Given the description of an element on the screen output the (x, y) to click on. 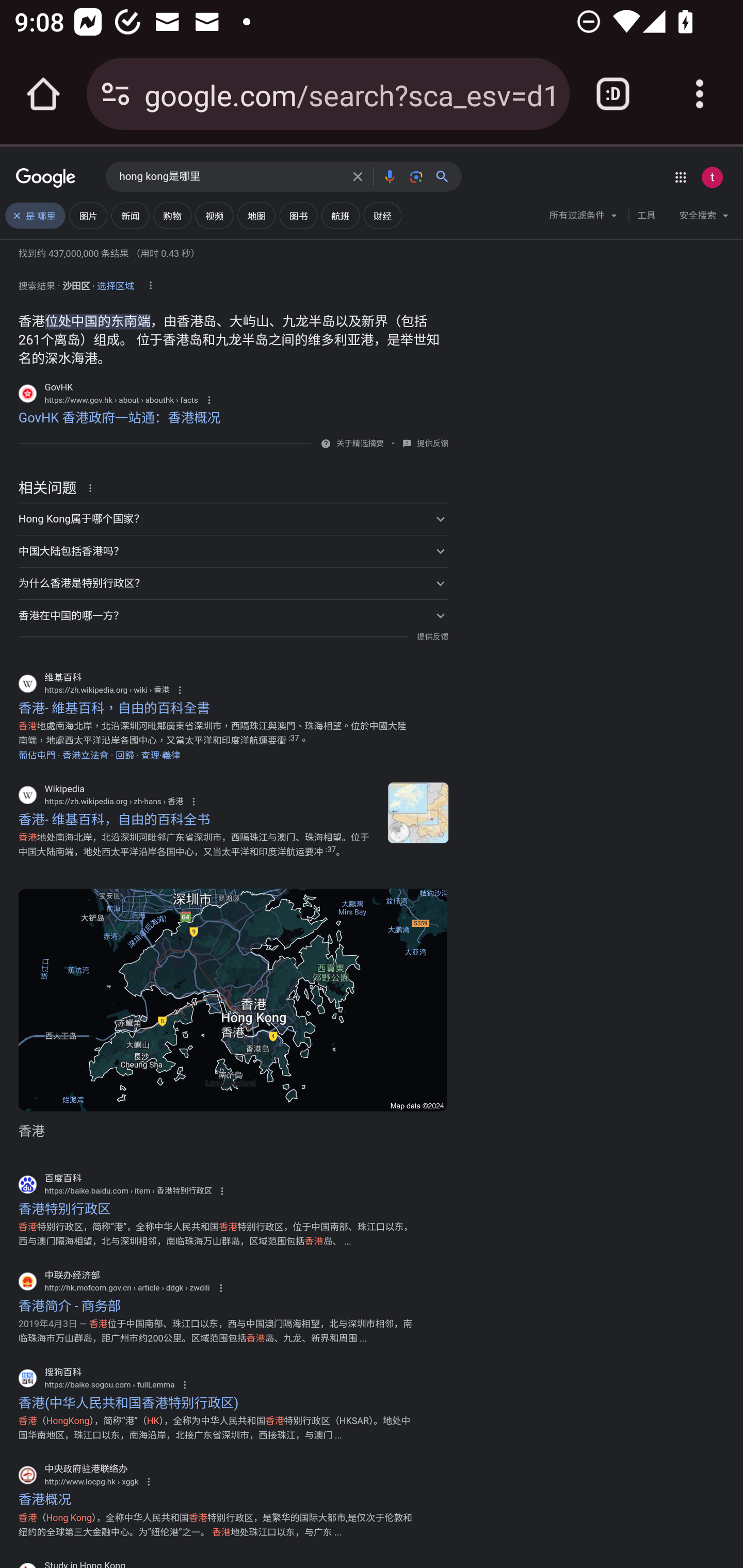
Open the home page (43, 93)
Connection is secure (115, 93)
Switch or close tabs (612, 93)
Customize and control Google Chrome (699, 93)
清除 (357, 176)
按语音搜索 (389, 176)
按图搜索 (415, 176)
搜索 (446, 176)
Google 应用 (680, 176)
Google 账号： test appium (testappium002@gmail.com) (712, 176)
Google (45, 178)
hong kong是哪里 (229, 177)
移除“是 哪里” 是 哪里 (35, 215)
图片 (88, 215)
新闻 (129, 215)
购物 (172, 215)
视频 (214, 215)
地图 (256, 215)
图书 (298, 215)
航班 (339, 215)
财经 (382, 215)
所有过滤条件 (583, 217)
工具 (646, 215)
安全搜索 (703, 217)
选择区域 (115, 282)
位置信息使用方式 (149, 285)
关于精选摘要 (359, 443)
提供反馈 (432, 443)
关于这条结果的详细信息 (93, 486)
Hong Kong属于哪个国家？ (232, 518)
中国大陆包括香港吗？ (232, 550)
为什么香港是特别行政区？ (232, 583)
香港在中国的哪一方？ (232, 614)
提供反馈 (432, 636)
葡佔屯門 (36, 754)
香港立法會 (84, 754)
回歸 (124, 754)
查理·義律 (160, 754)
%E9%A6%99%E6%B8%AF (417, 812)
